Given the description of an element on the screen output the (x, y) to click on. 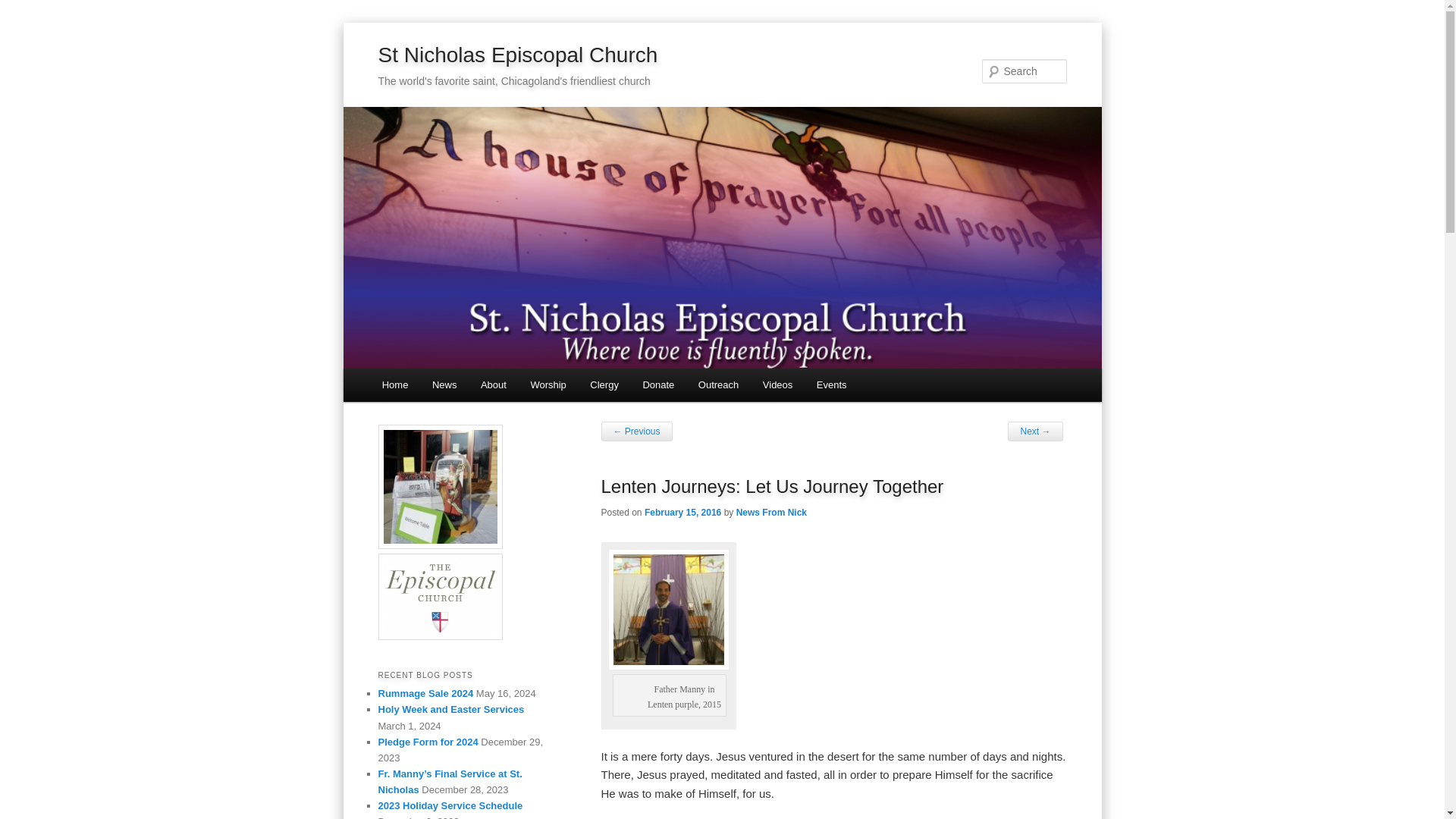
Donate (657, 384)
St Nicholas Episcopal Church (517, 54)
News (444, 384)
Worship (548, 384)
Clergy (604, 384)
Welcome Home (394, 384)
Home (394, 384)
St Nicholas Episcopal Church (517, 54)
Events (832, 384)
Worship (548, 384)
About (493, 384)
News From Nick (771, 511)
February 15, 2016 (682, 511)
